Given the description of an element on the screen output the (x, y) to click on. 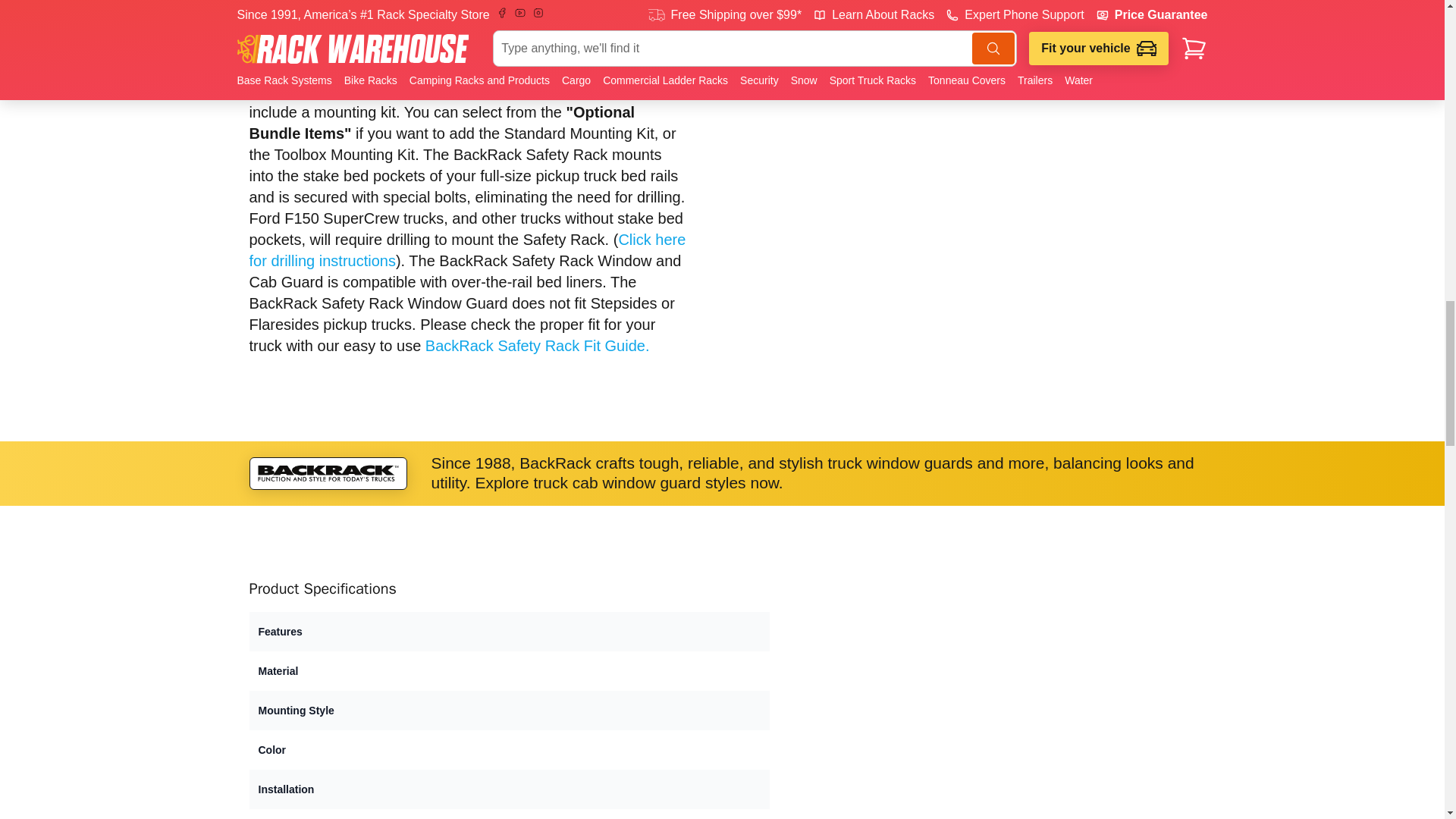
BackRack Safety Rack Fit Guide. (537, 345)
Click here for drilling instructions (466, 249)
